Given the description of an element on the screen output the (x, y) to click on. 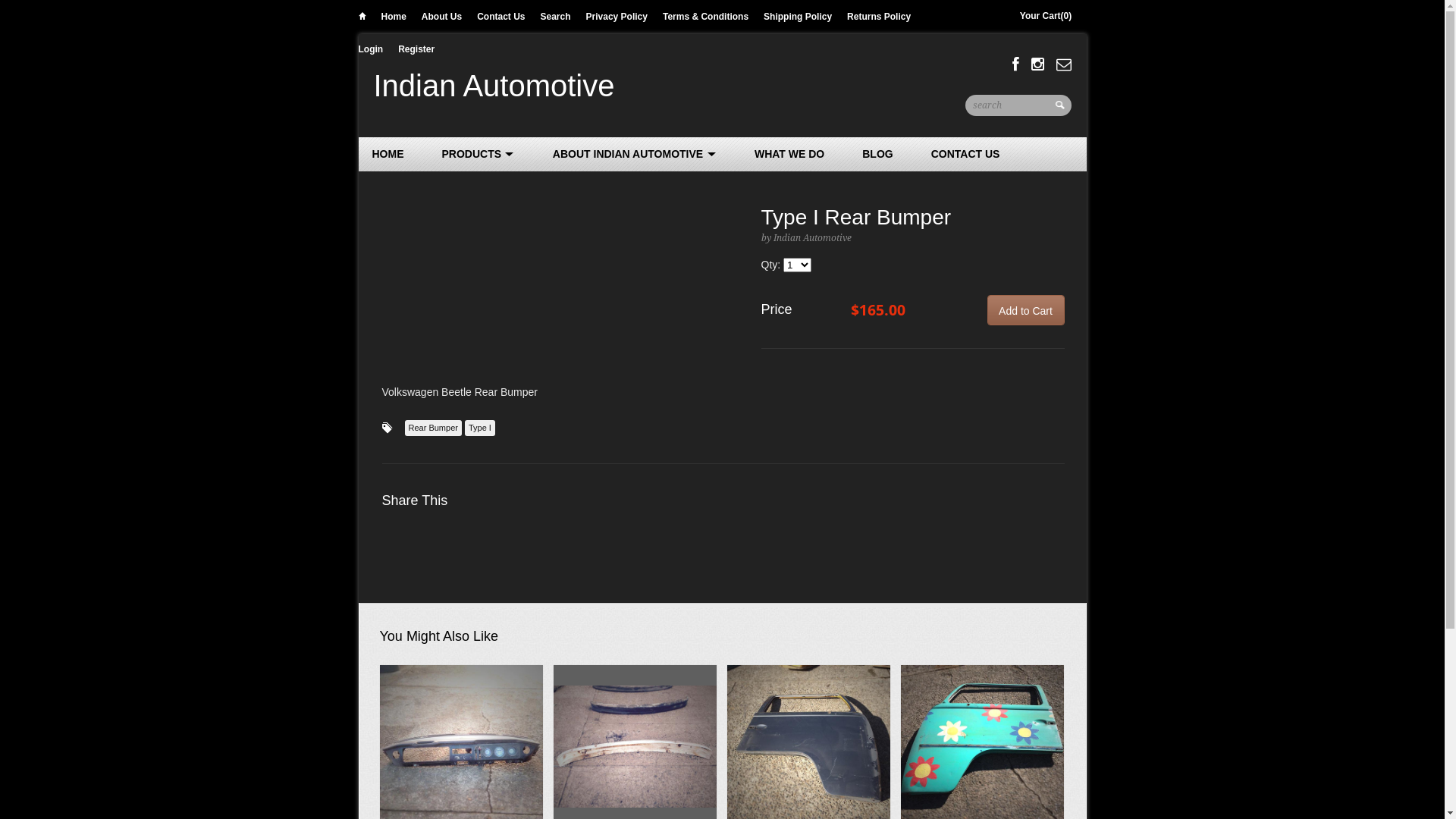
Register Element type: text (416, 48)
Indian Automotive Element type: text (493, 85)
Search Element type: text (1060, 109)
Add to Cart Element type: text (1025, 309)
Login Element type: text (369, 48)
WHAT WE DO Element type: text (789, 153)
HOME Element type: text (387, 153)
Contact Us Element type: text (500, 16)
Type I Element type: text (479, 428)
Home Element type: text (361, 18)
BLOG Element type: text (877, 153)
About Us Element type: text (441, 16)
Email Indian Automotive Element type: hover (1062, 64)
Terms & Conditions Element type: text (705, 16)
Rear Bumper Element type: text (432, 428)
Search Element type: text (555, 16)
Privacy Policy Element type: text (616, 16)
Your Cart(0) Element type: text (1045, 17)
Shipping Policy Element type: text (797, 16)
Returns Policy Element type: text (878, 16)
Follow Indian Automotive on Instagram Element type: hover (1037, 64)
ABOUT INDIAN AUTOMOTIVE   Element type: text (634, 153)
PRODUCTS   Element type: text (477, 153)
Home Element type: text (392, 16)
Join Indian Automotive on Facebook Element type: hover (1015, 64)
CONTACT US Element type: text (965, 153)
